Given the description of an element on the screen output the (x, y) to click on. 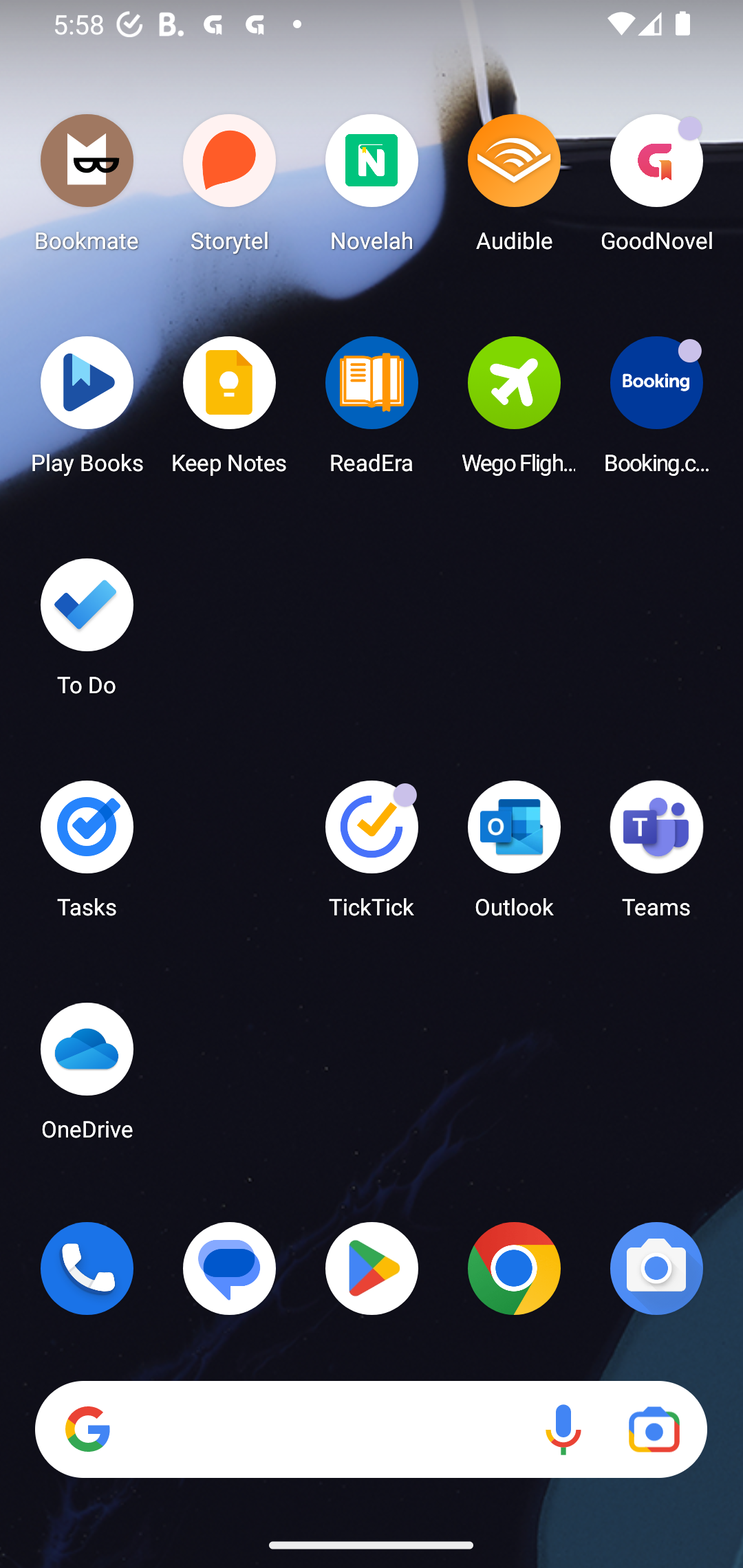
Bookmate (86, 188)
Storytel (229, 188)
Novelah (371, 188)
Audible (513, 188)
GoodNovel GoodNovel has 19 notifications (656, 188)
Play Books (86, 410)
Keep Notes (229, 410)
ReadEra (371, 410)
Wego Flights & Hotels (513, 410)
Booking.com Booking.com has 1 notification (656, 410)
To Do (86, 633)
Tasks (86, 854)
TickTick TickTick has 3 notifications (371, 854)
Outlook (513, 854)
Teams (656, 854)
OneDrive (86, 1076)
Phone (86, 1268)
Messages (229, 1268)
Play Store (371, 1268)
Chrome (513, 1268)
Camera (656, 1268)
Search Voice search Google Lens (370, 1429)
Voice search (562, 1429)
Google Lens (653, 1429)
